Given the description of an element on the screen output the (x, y) to click on. 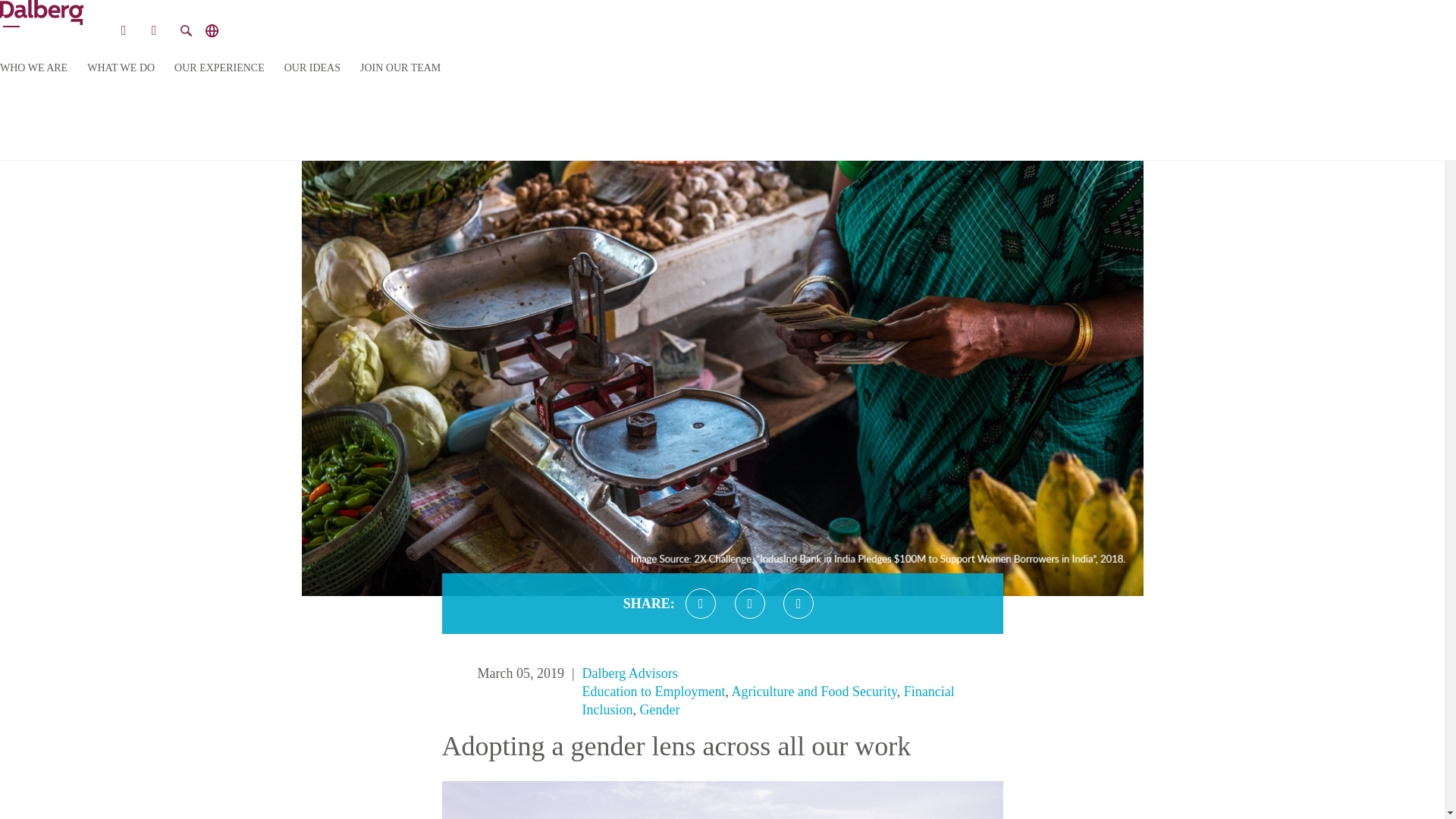
Dalberg Advisors (630, 672)
WHO WE ARE (33, 67)
JOIN OUR TEAM (400, 67)
WHAT WE DO (120, 67)
OUR IDEAS (311, 67)
OUR EXPERIENCE (219, 67)
